Given the description of an element on the screen output the (x, y) to click on. 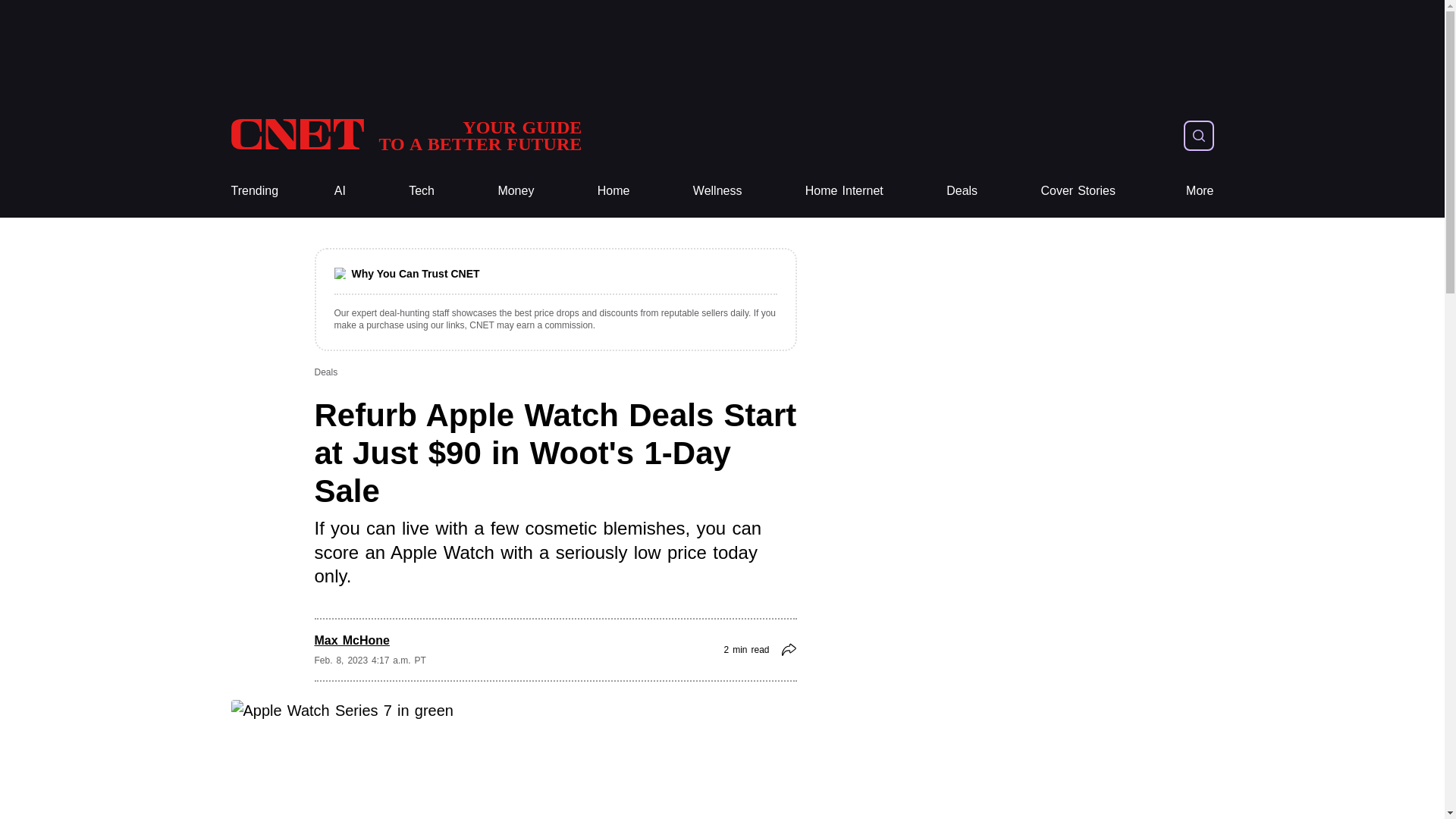
Tech (405, 135)
CNET (421, 190)
Home (405, 135)
Home Internet (613, 190)
Home (844, 190)
Money (613, 190)
Trending (515, 190)
Deals (254, 190)
Wellness (961, 190)
Home Internet (717, 190)
Trending (844, 190)
Cover Stories (254, 190)
Wellness (1078, 190)
Tech (717, 190)
